Given the description of an element on the screen output the (x, y) to click on. 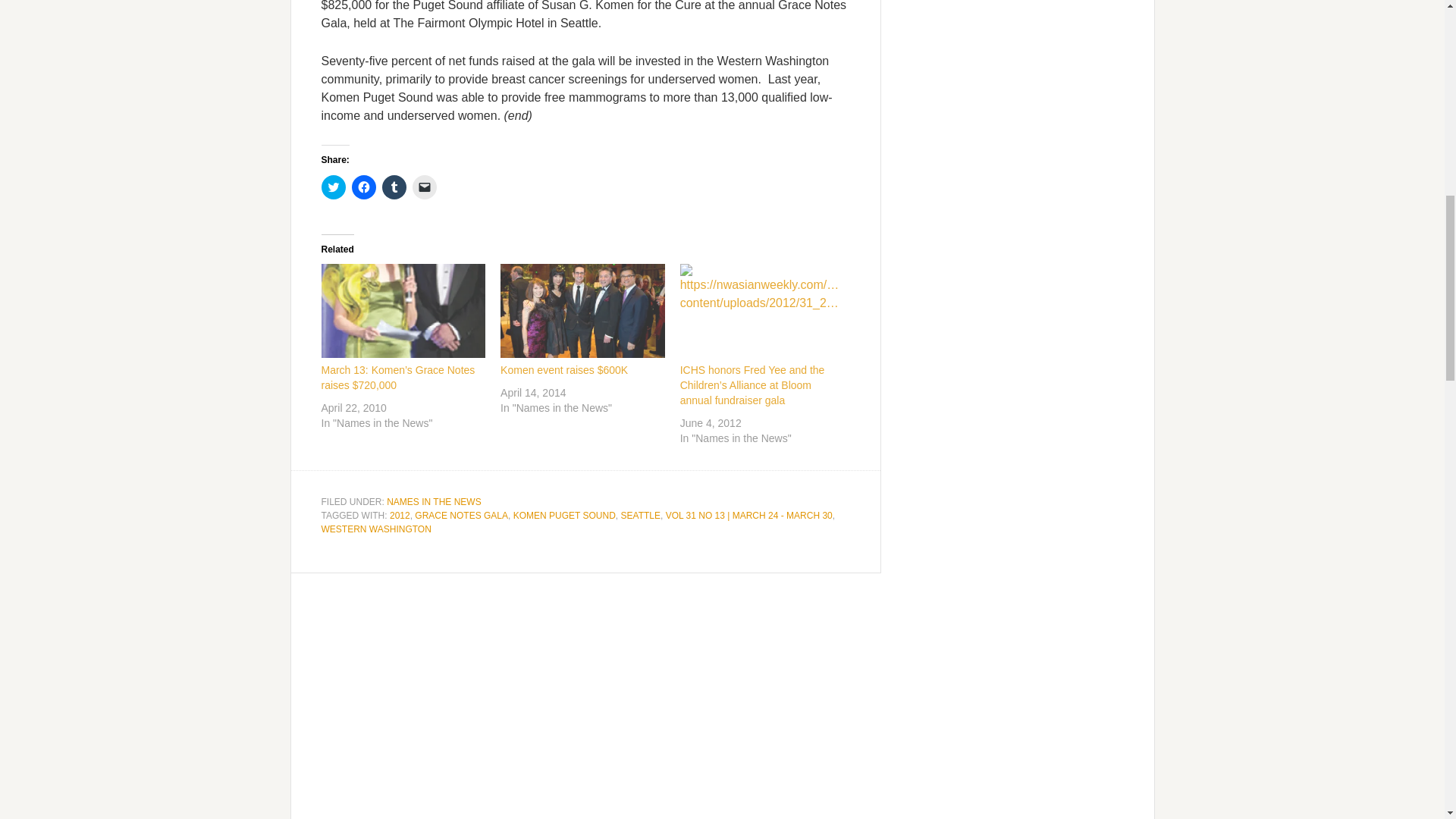
Click to share on Tumblr (393, 187)
Click to share on Twitter (333, 187)
Click to share on Facebook (363, 187)
Click to email a link to a friend (424, 187)
